Given the description of an element on the screen output the (x, y) to click on. 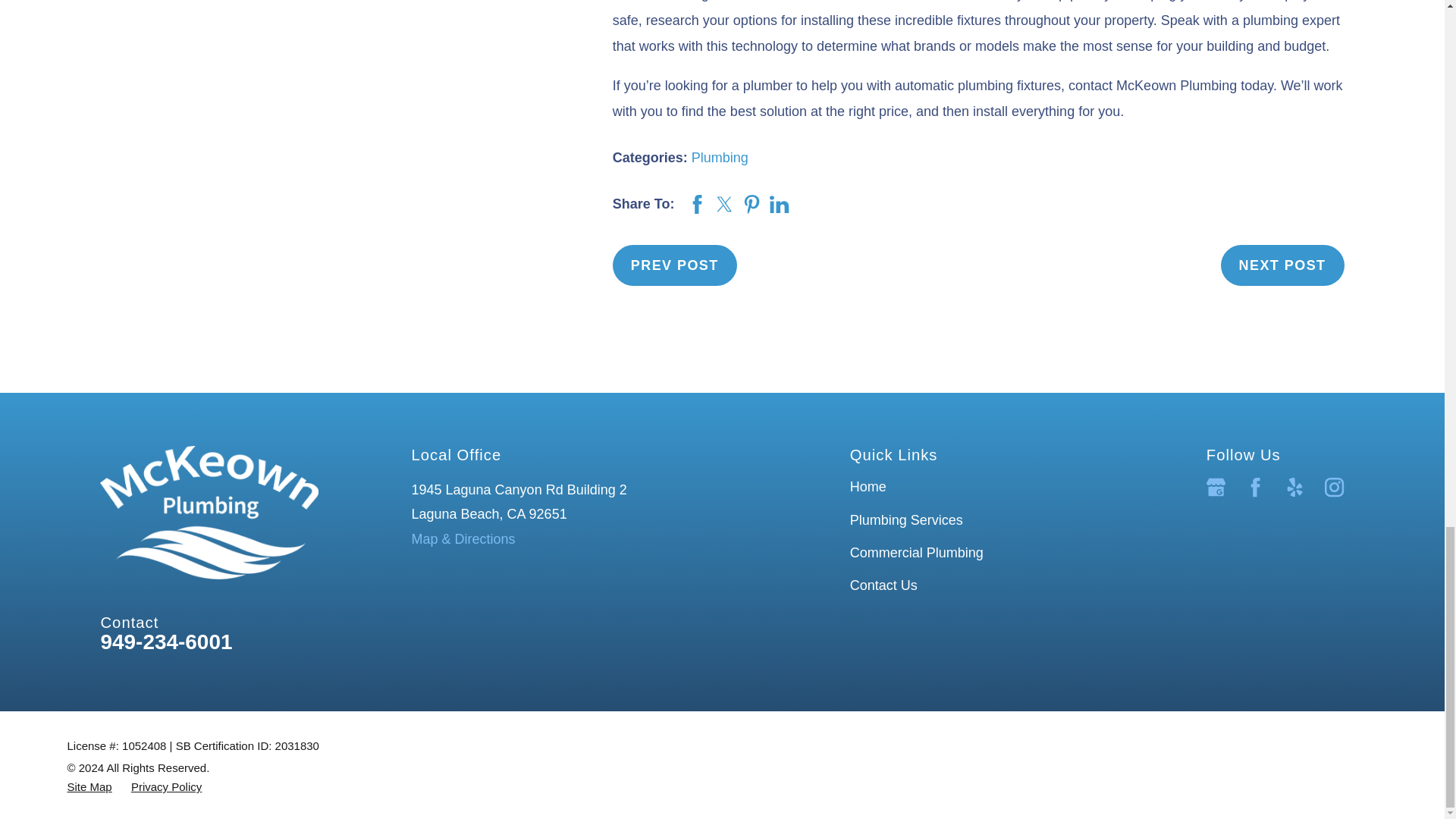
Yelp (1294, 486)
Home (209, 512)
Google Business Profile (1216, 486)
Facebook (1255, 486)
Instagram (1333, 486)
